Given the description of an element on the screen output the (x, y) to click on. 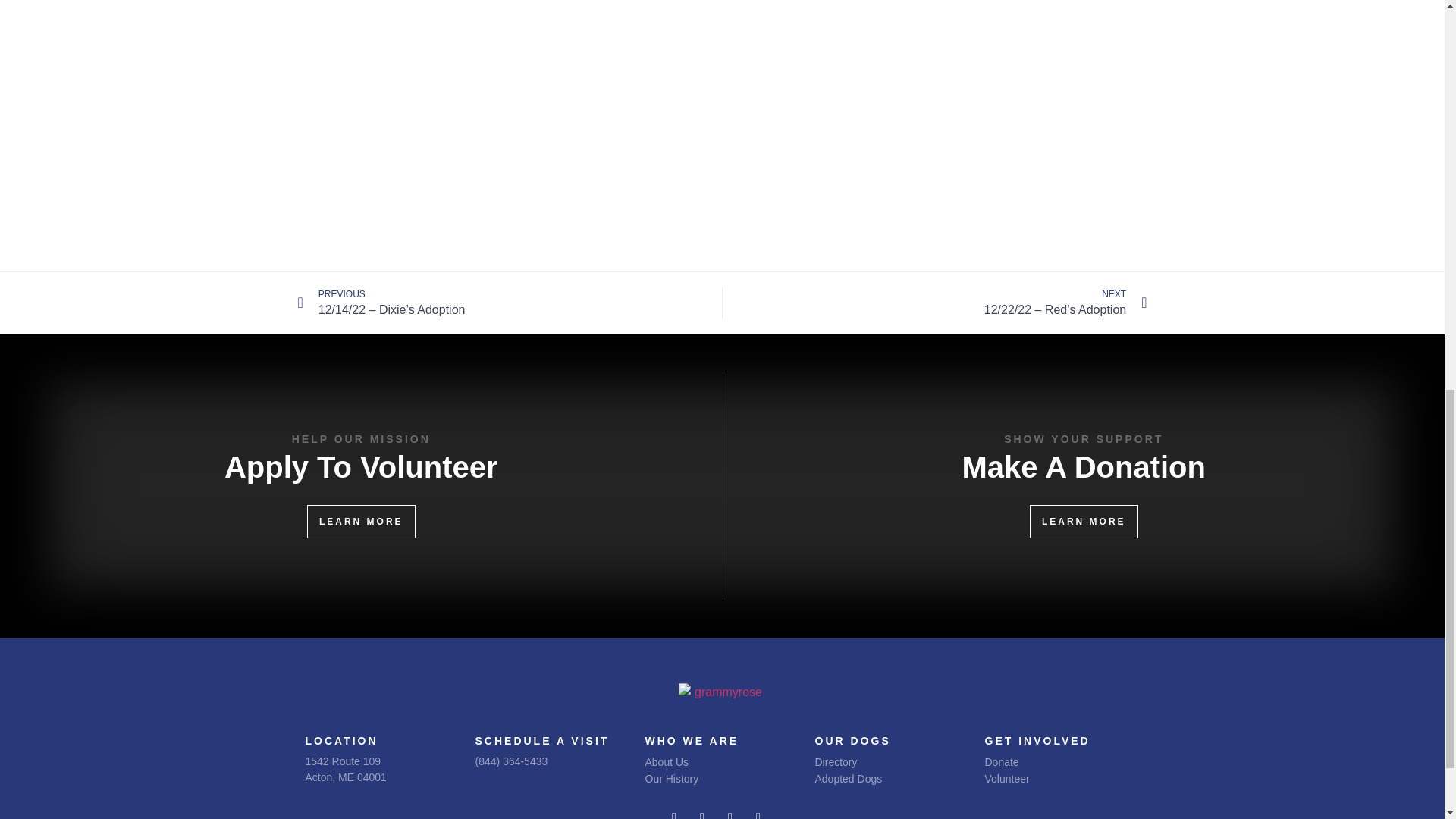
Our History (708, 778)
About Us (708, 761)
Directory (884, 761)
LEARN MORE (1083, 521)
LEARN MORE (344, 768)
